Given the description of an element on the screen output the (x, y) to click on. 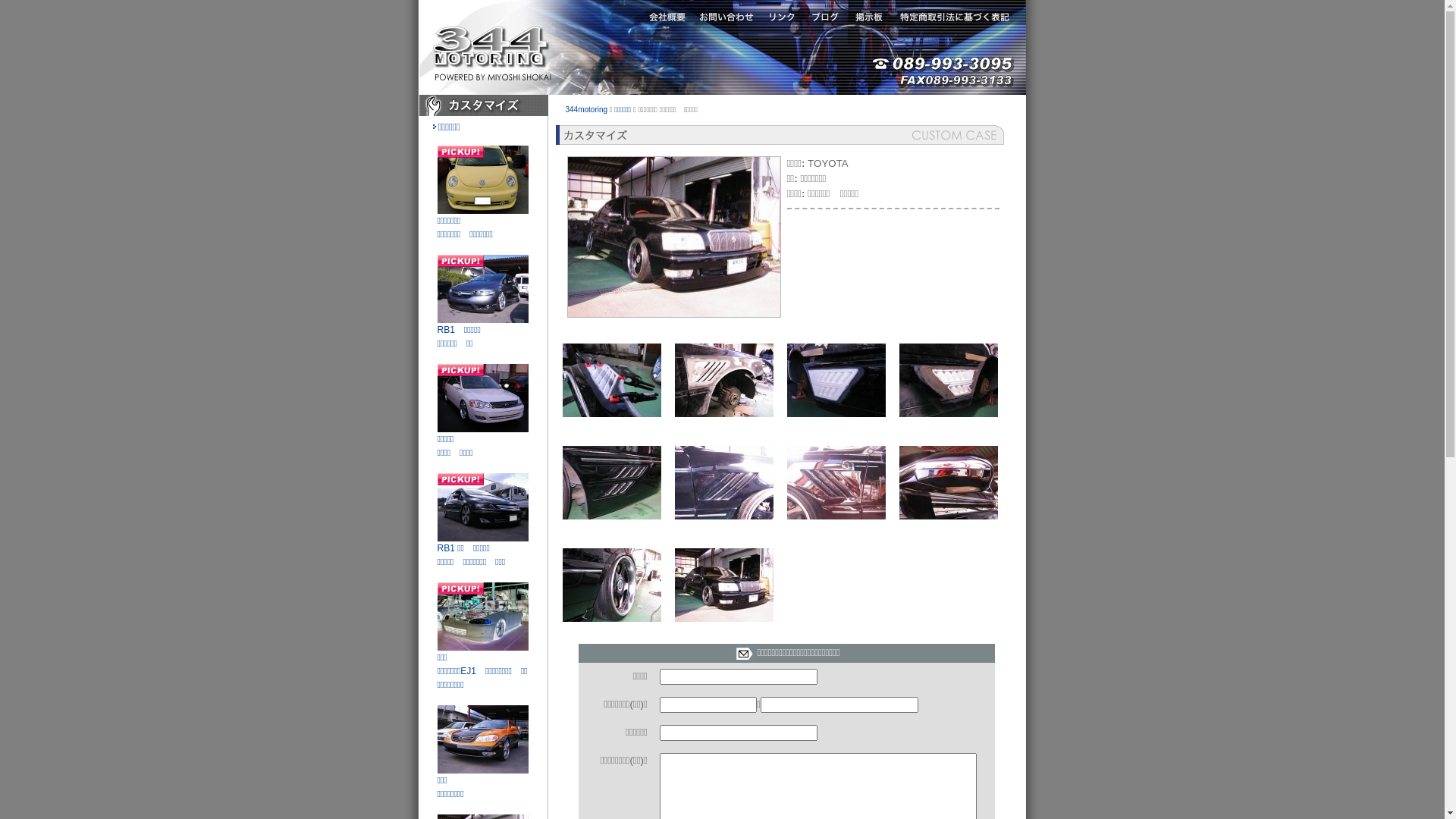
344motoring Element type: text (586, 109)
